Given the description of an element on the screen output the (x, y) to click on. 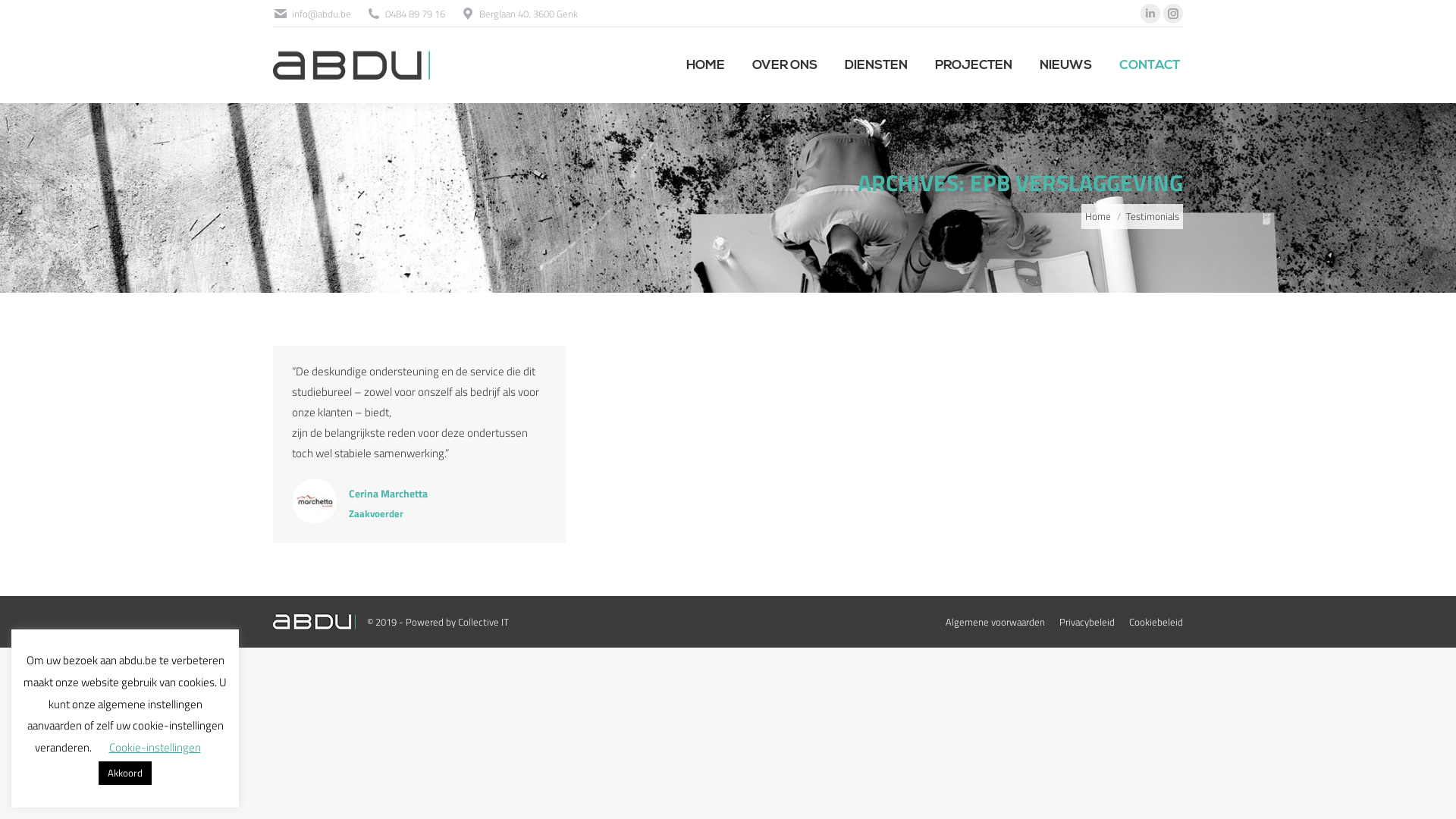
DIENSTEN Element type: text (875, 64)
Algemene voorwaarden Element type: text (994, 621)
Linkedin page opens in new window Element type: text (1150, 13)
PROJECTEN Element type: text (973, 64)
Collective IT Element type: text (483, 621)
HOME Element type: text (705, 64)
Akkoord Element type: text (124, 772)
Home Element type: text (1097, 214)
CONTACT Element type: text (1149, 64)
Instagram page opens in new window Element type: text (1173, 13)
Cookie-instellingen Element type: text (154, 747)
OVER ONS Element type: text (784, 64)
Cookiebeleid Element type: text (1156, 621)
NIEUWS Element type: text (1065, 64)
Privacybeleid Element type: text (1086, 621)
